Given the description of an element on the screen output the (x, y) to click on. 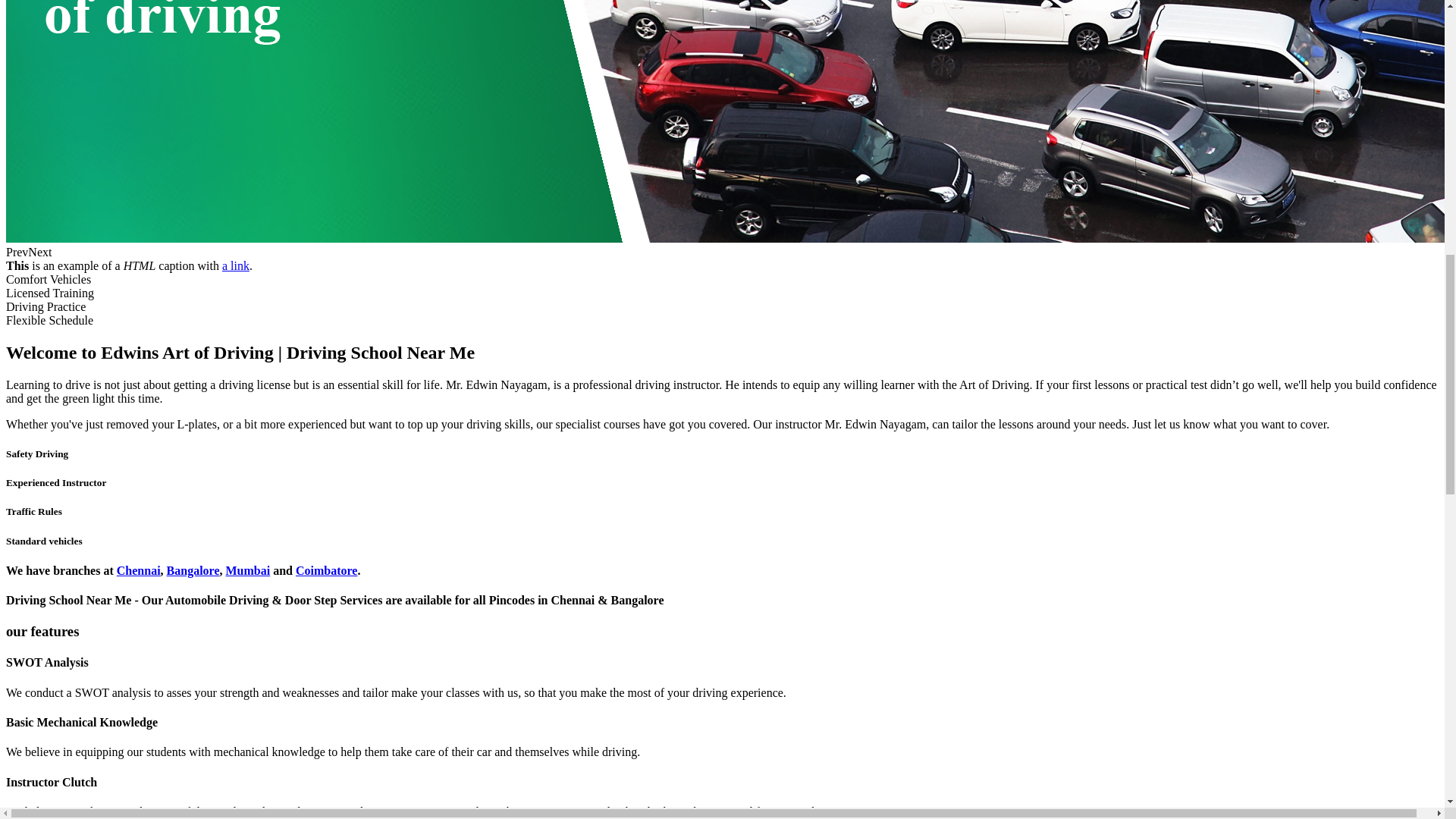
Chennai (138, 570)
Next (38, 251)
Prev (16, 251)
a link (235, 265)
